Given the description of an element on the screen output the (x, y) to click on. 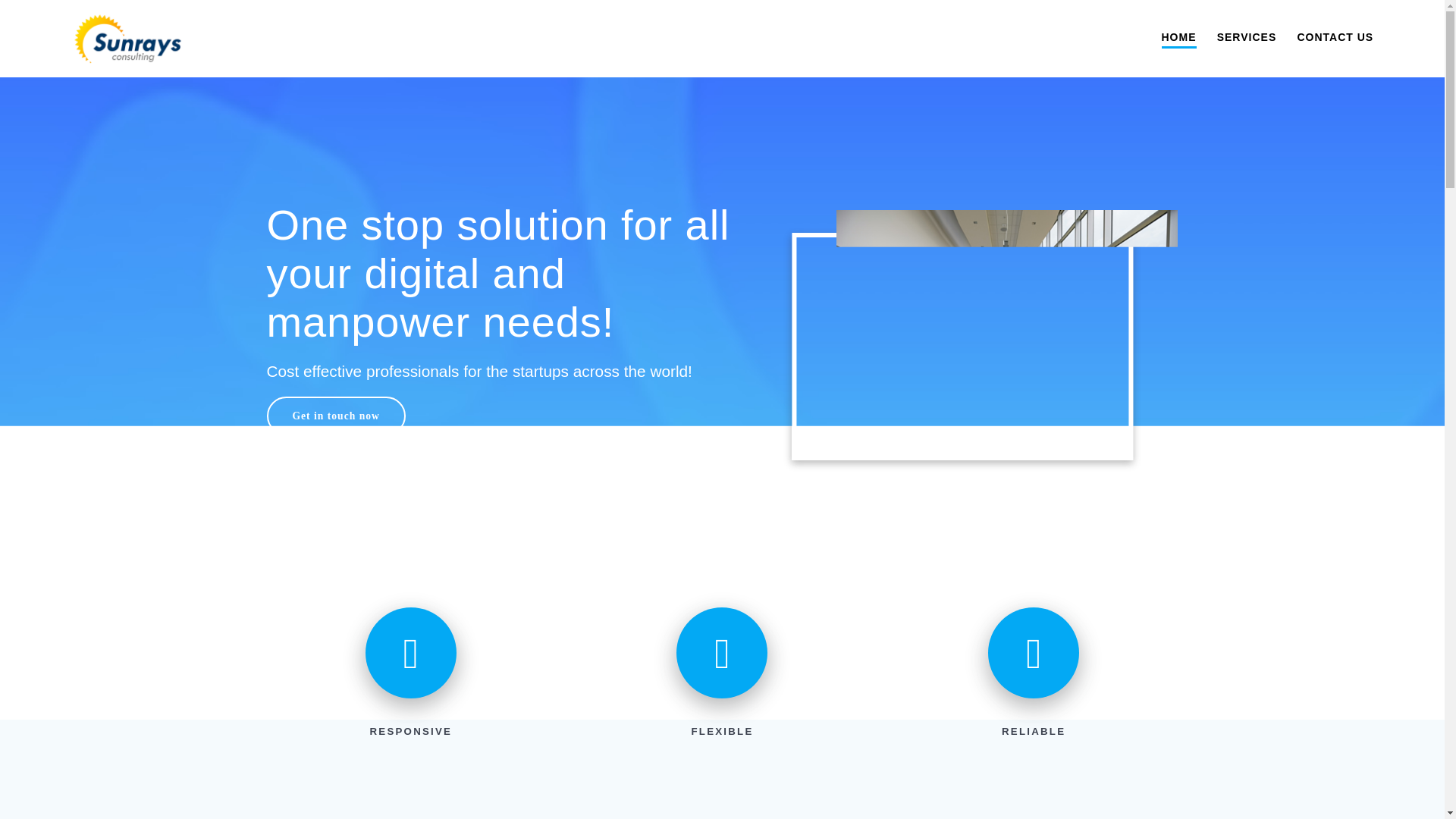
SERVICES (1246, 36)
CONTACT US (1335, 36)
Get in touch now (336, 415)
HOME (1178, 37)
